Given the description of an element on the screen output the (x, y) to click on. 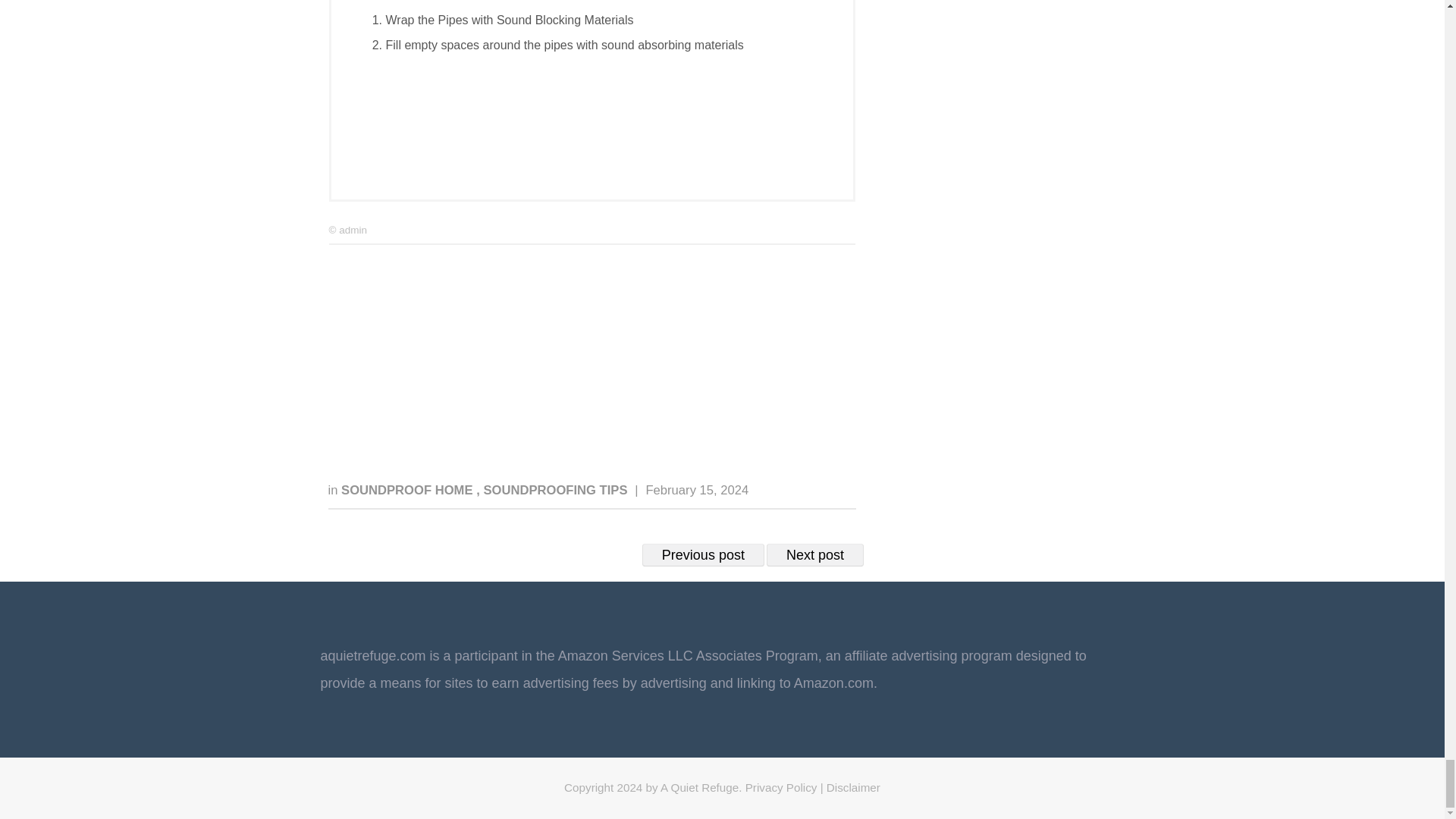
SOUNDPROOFING TIPS (556, 490)
Privacy Policy (780, 787)
Next post (815, 554)
Disclaimer (853, 787)
SOUNDPROOF HOME (408, 490)
Previous post (703, 554)
